Given the description of an element on the screen output the (x, y) to click on. 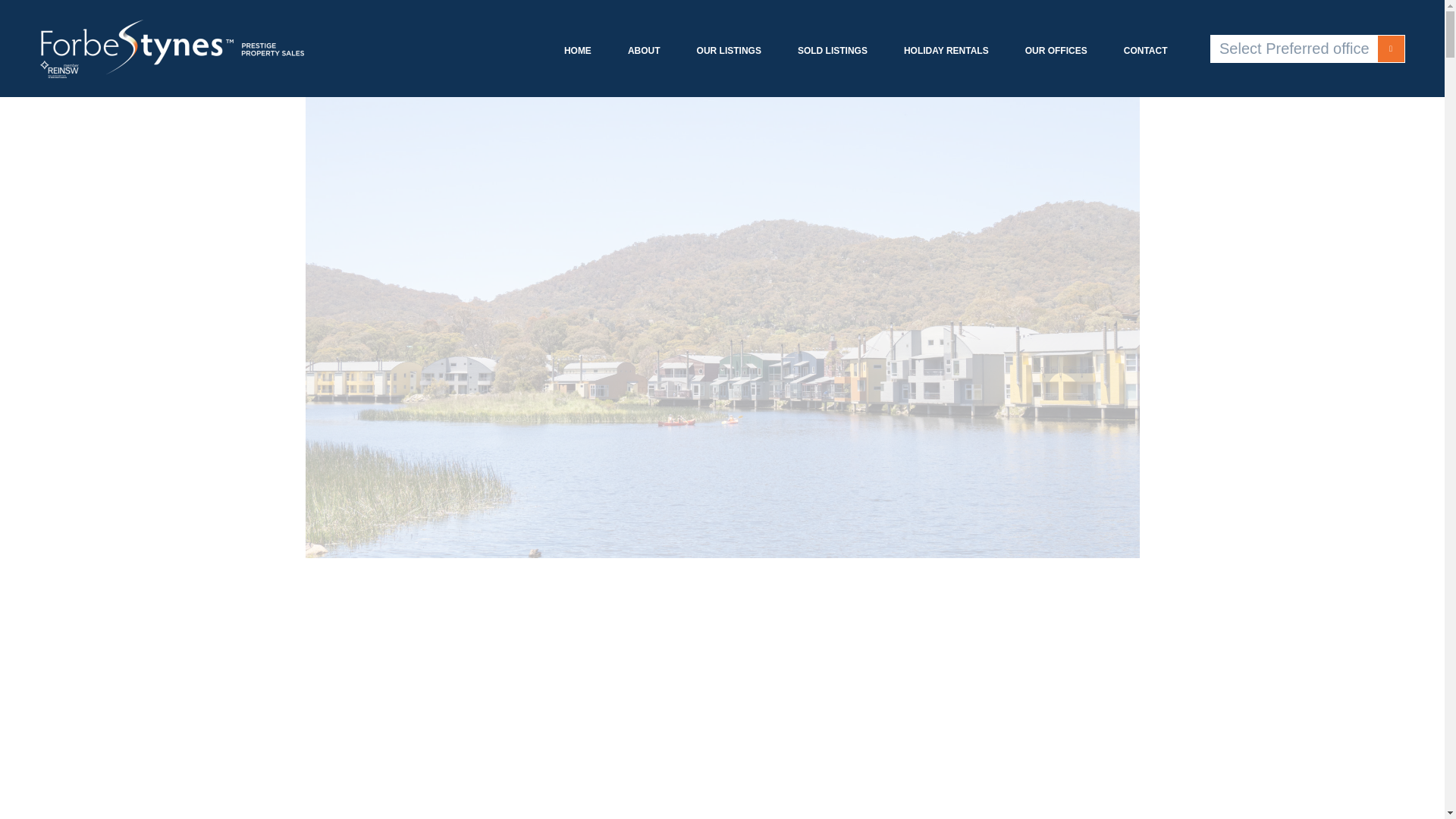
CONTACT (1145, 50)
HOLIDAY RENTALS (946, 50)
HOME (577, 50)
OUR OFFICES (1056, 50)
ABOUT (644, 50)
SOLD LISTINGS (832, 50)
OUR LISTINGS (729, 50)
